Given the description of an element on the screen output the (x, y) to click on. 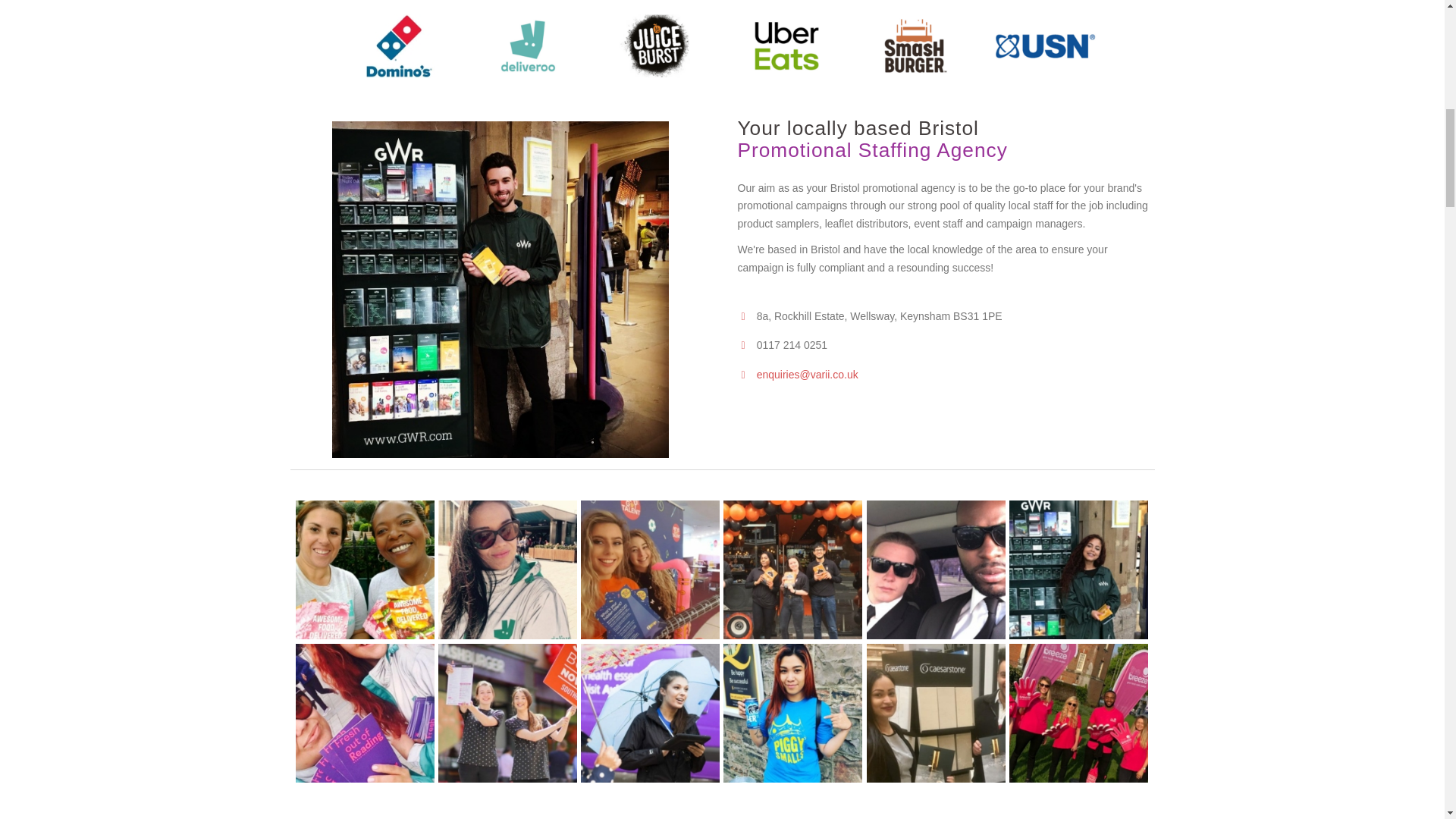
Juice Burst Client (657, 45)
Brand Ambassadors at a Train Station (1078, 569)
USN Client Logo (1045, 45)
SmashBurger Client Logos (915, 45)
App download Promotion campaign (364, 712)
Promo Staff for new restaurant launch (507, 712)
Dominos Pizza Logo (398, 45)
Promotional Staff to help with a new store launch opening (792, 569)
PR Stunt Staff as part of a wider Promotional Campaign (936, 569)
Uber Eats Logo (785, 45)
Promo Girls running an internal office PR stunt (649, 569)
Deliveroo Clients logo (528, 45)
